Given the description of an element on the screen output the (x, y) to click on. 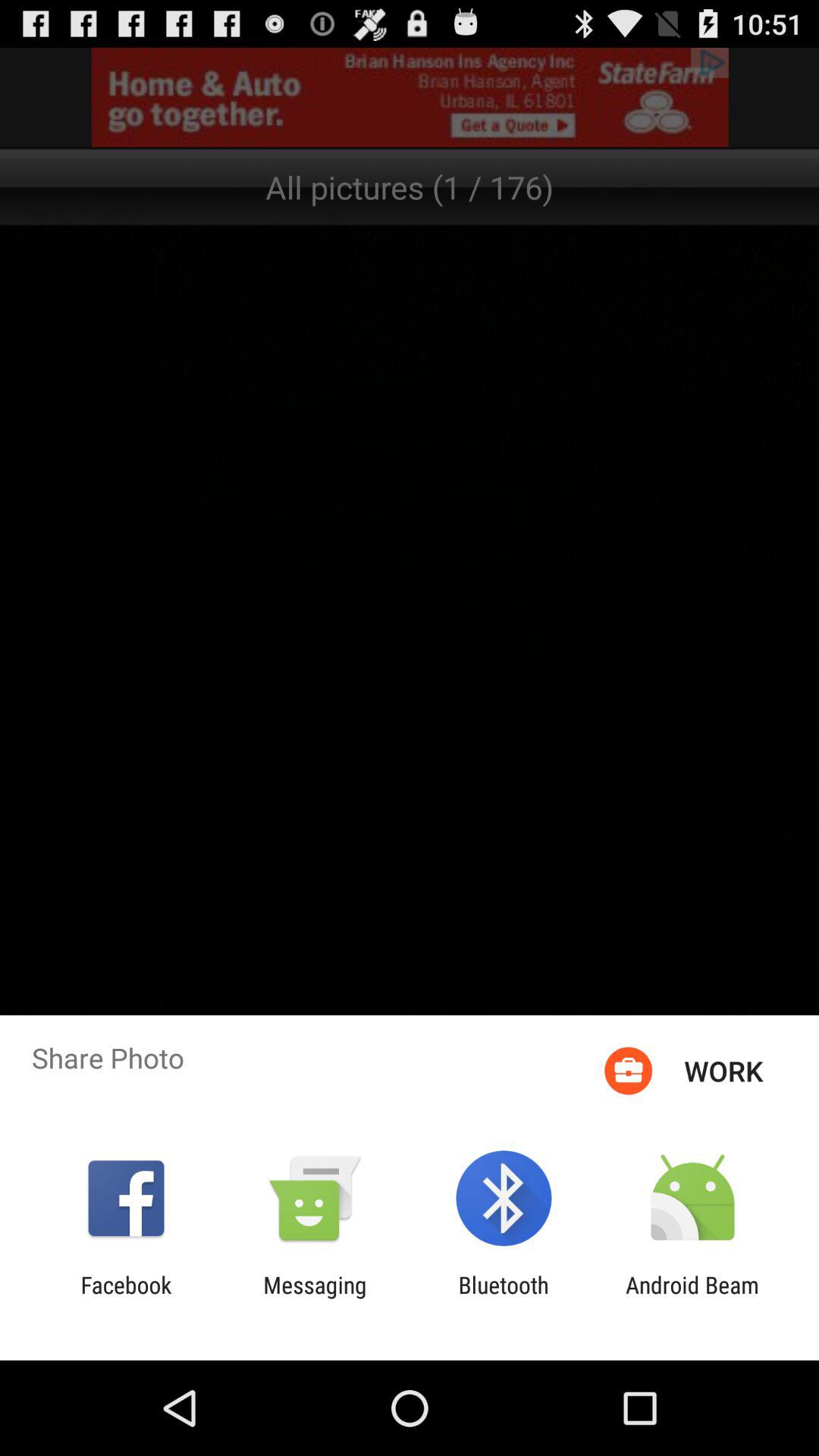
flip until the facebook item (125, 1298)
